Given the description of an element on the screen output the (x, y) to click on. 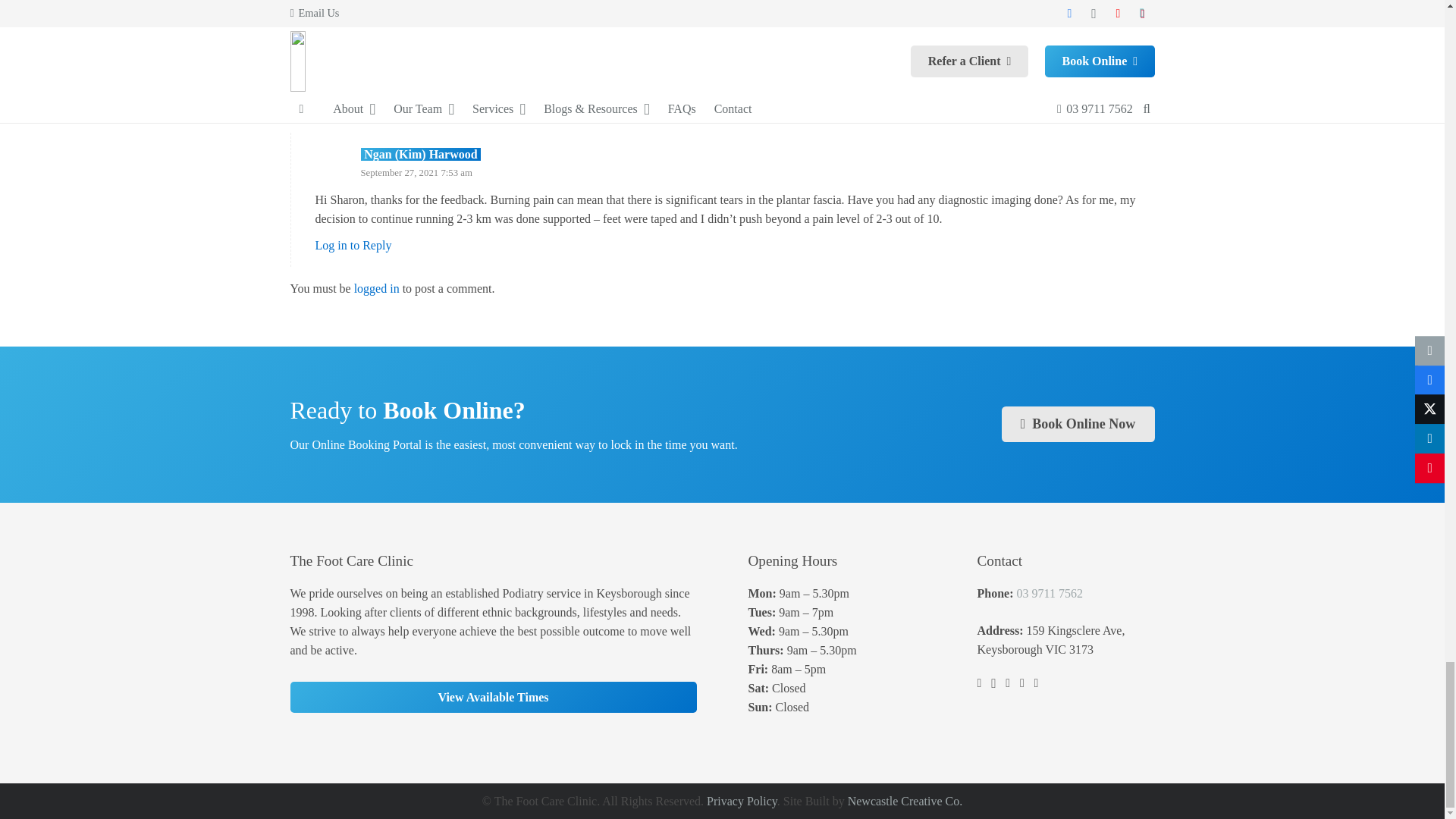
September 27, 2021 7:53 am (417, 172)
Book Online (1077, 424)
September 26, 2021 3:33 am (390, 39)
Book Online (492, 697)
